Given the description of an element on the screen output the (x, y) to click on. 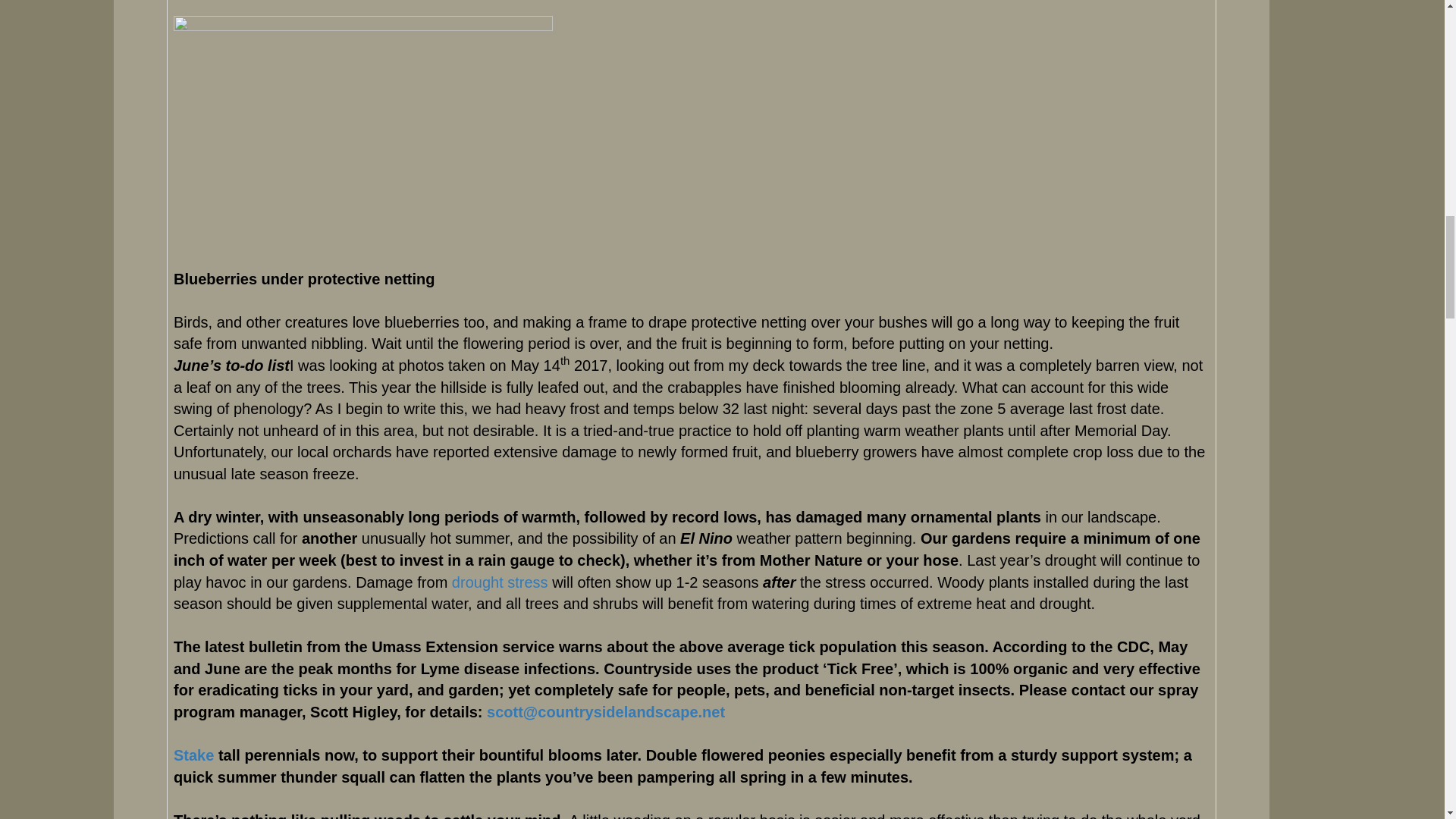
Stake (193, 754)
drought stress (499, 582)
